Given the description of an element on the screen output the (x, y) to click on. 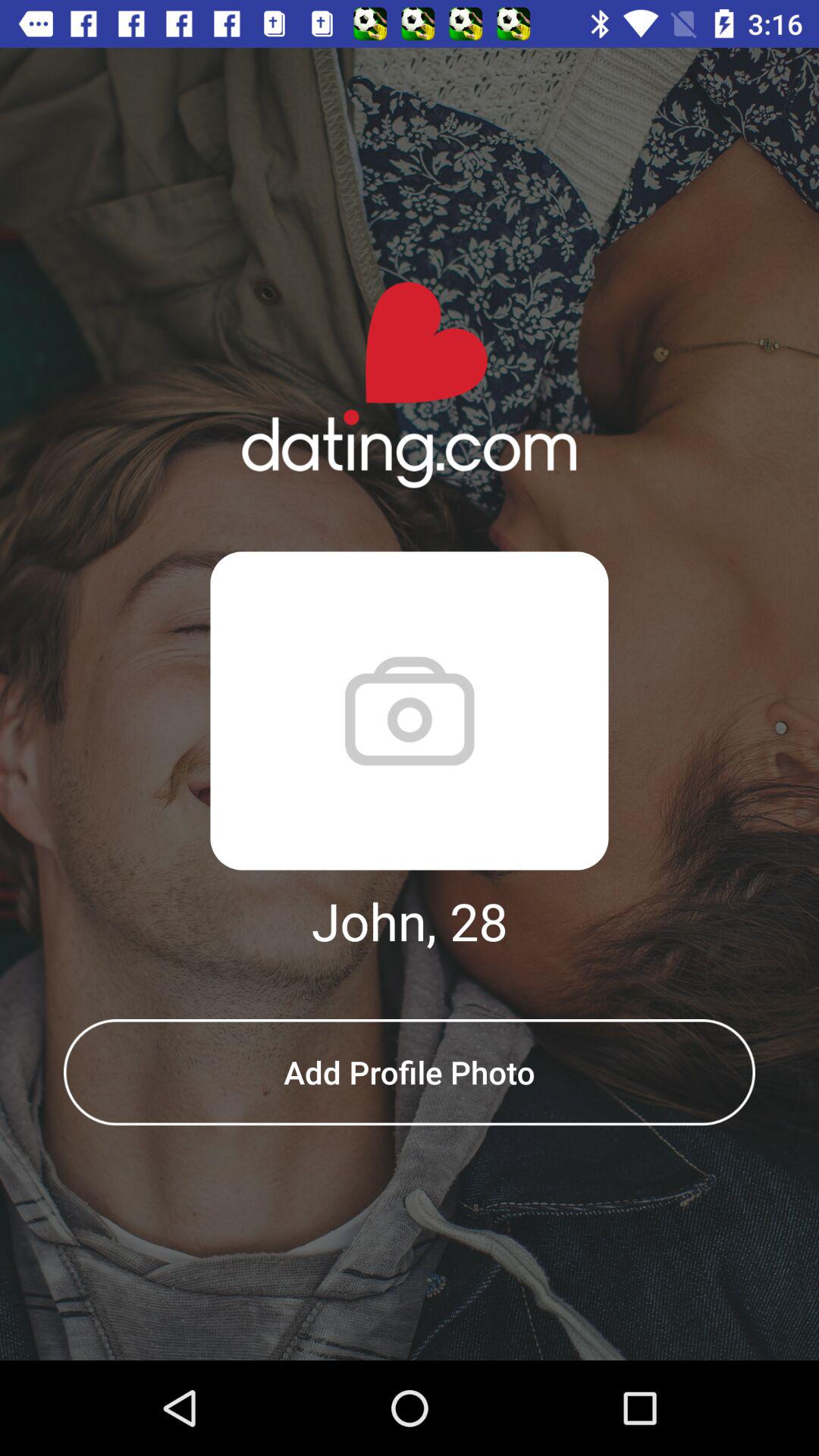
press the add profile photo item (409, 1072)
